Given the description of an element on the screen output the (x, y) to click on. 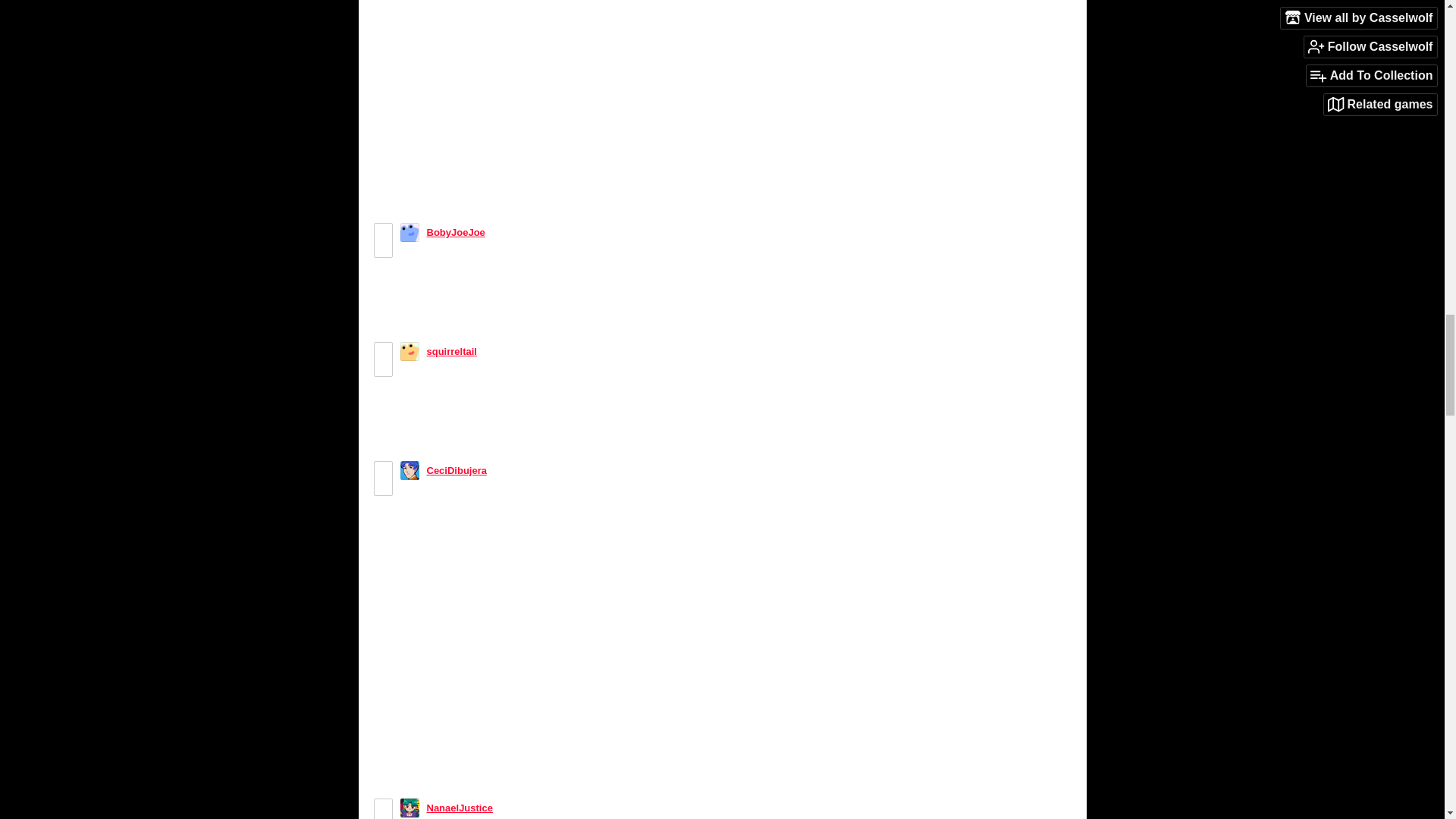
Vote down (382, 367)
Vote up (382, 351)
2023-12-11 15:50:06 (522, 232)
Vote up (382, 231)
2023-11-19 06:50:57 (513, 351)
Vote down (382, 248)
